Given the description of an element on the screen output the (x, y) to click on. 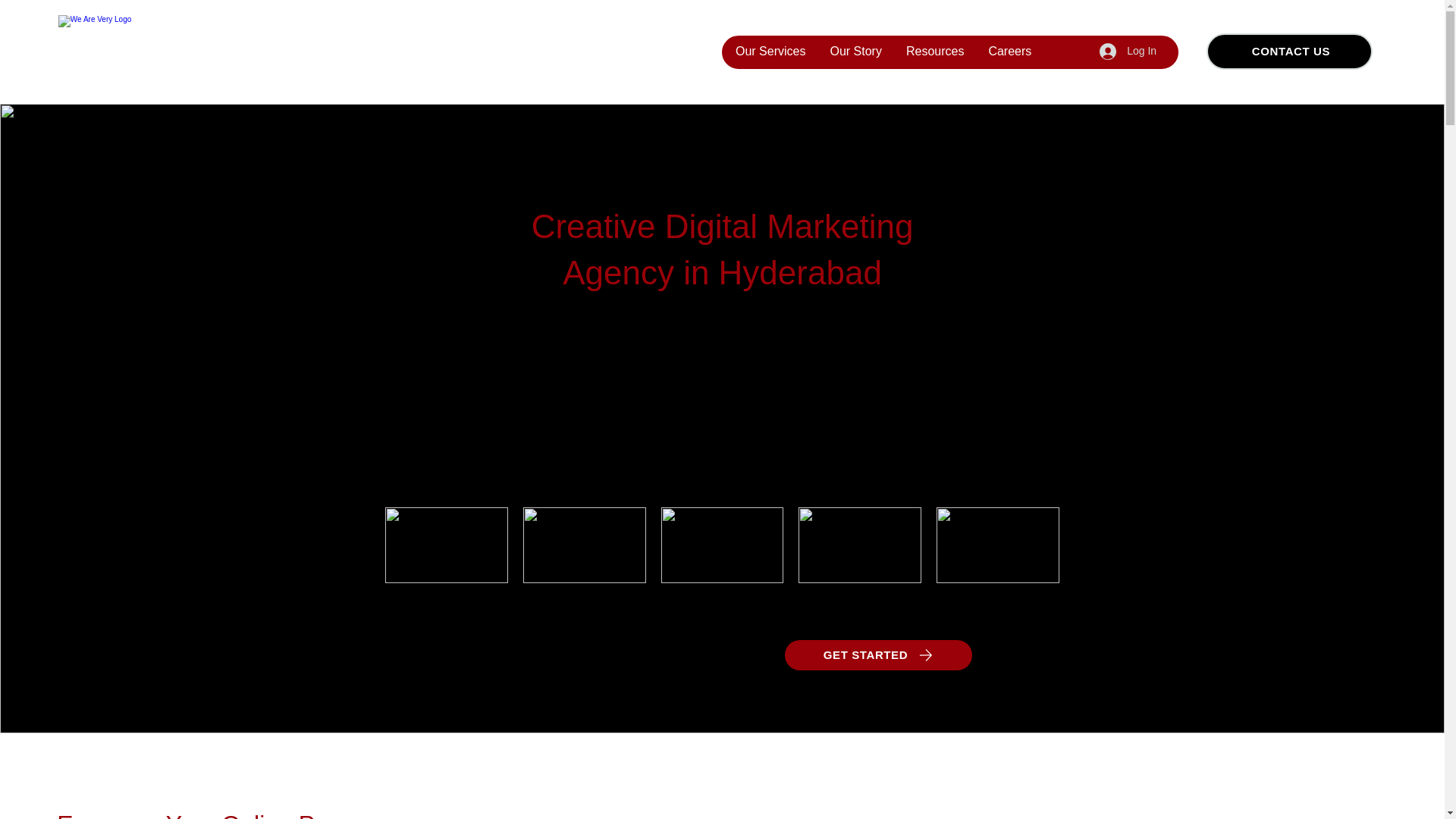
Our Services (769, 51)
Careers (1009, 51)
Our Story (854, 51)
CONTACT US (1290, 51)
Log In (1128, 51)
Resources (934, 51)
GET STARTED (878, 654)
